Given the description of an element on the screen output the (x, y) to click on. 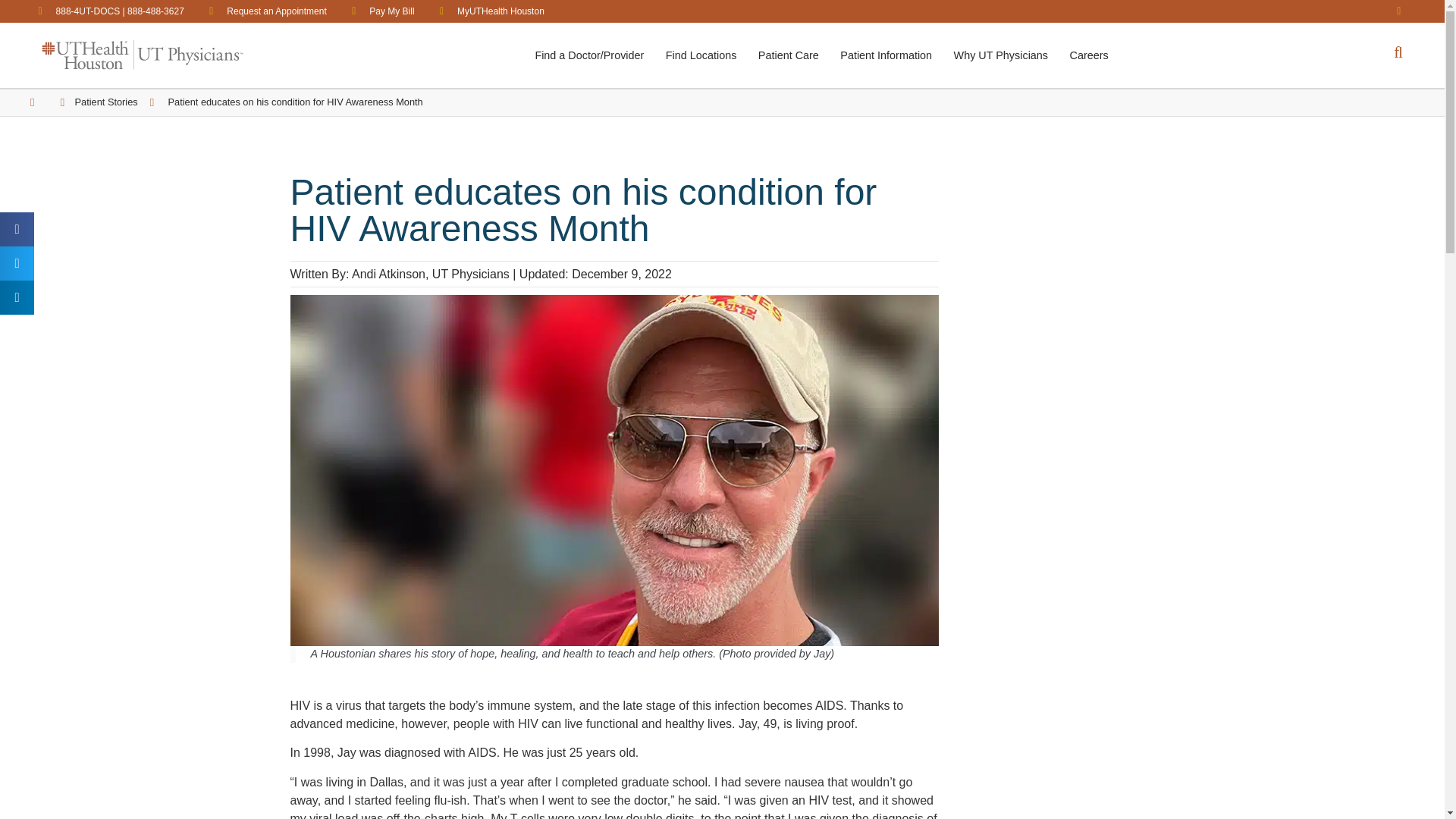
Patient Information (885, 55)
Request an Appointment (263, 11)
Pay My Bill (378, 11)
Find Locations (700, 55)
MyUTHealth Houston (487, 11)
Patient Care (788, 55)
